Given the description of an element on the screen output the (x, y) to click on. 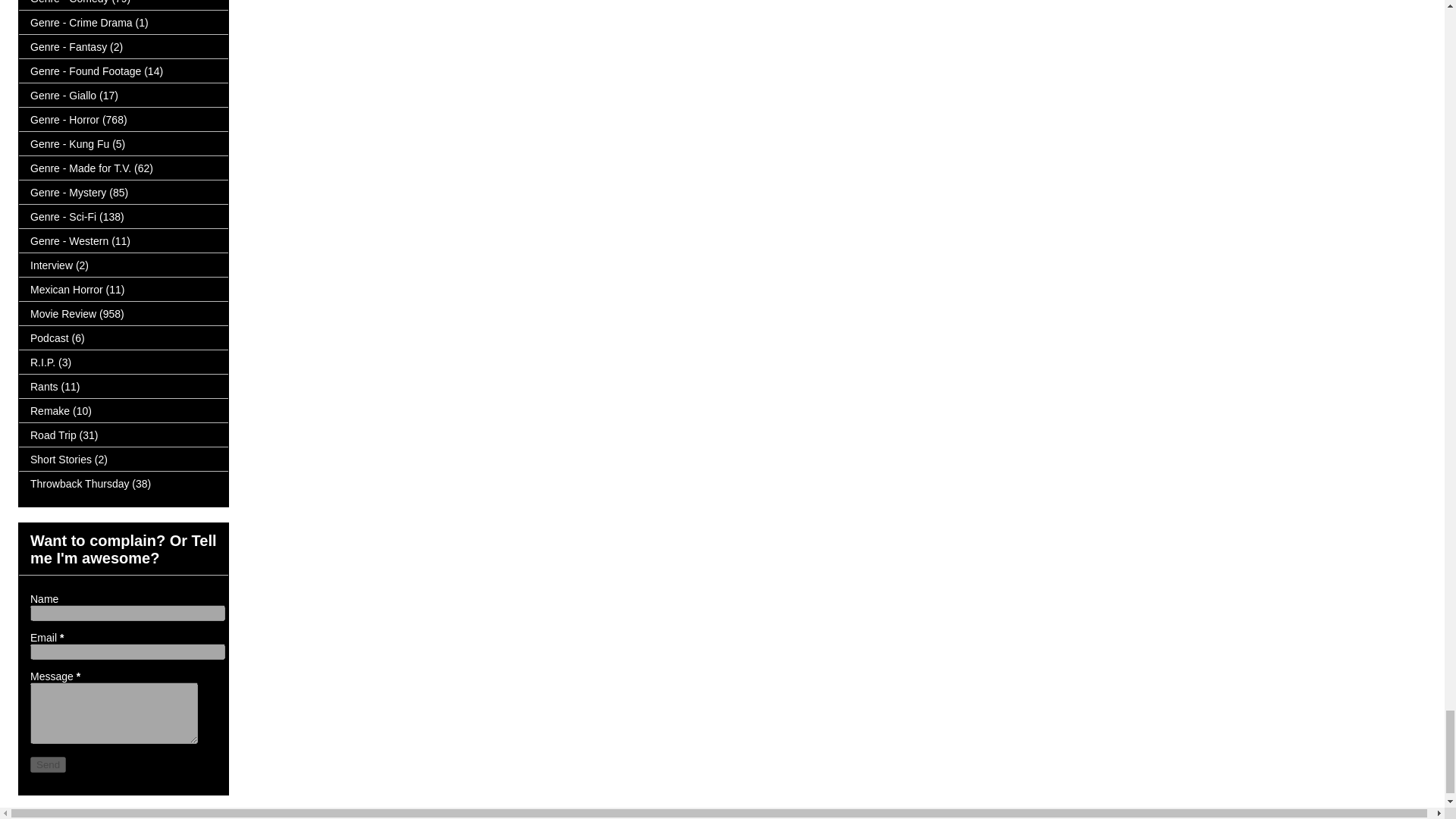
Send (47, 764)
